Given the description of an element on the screen output the (x, y) to click on. 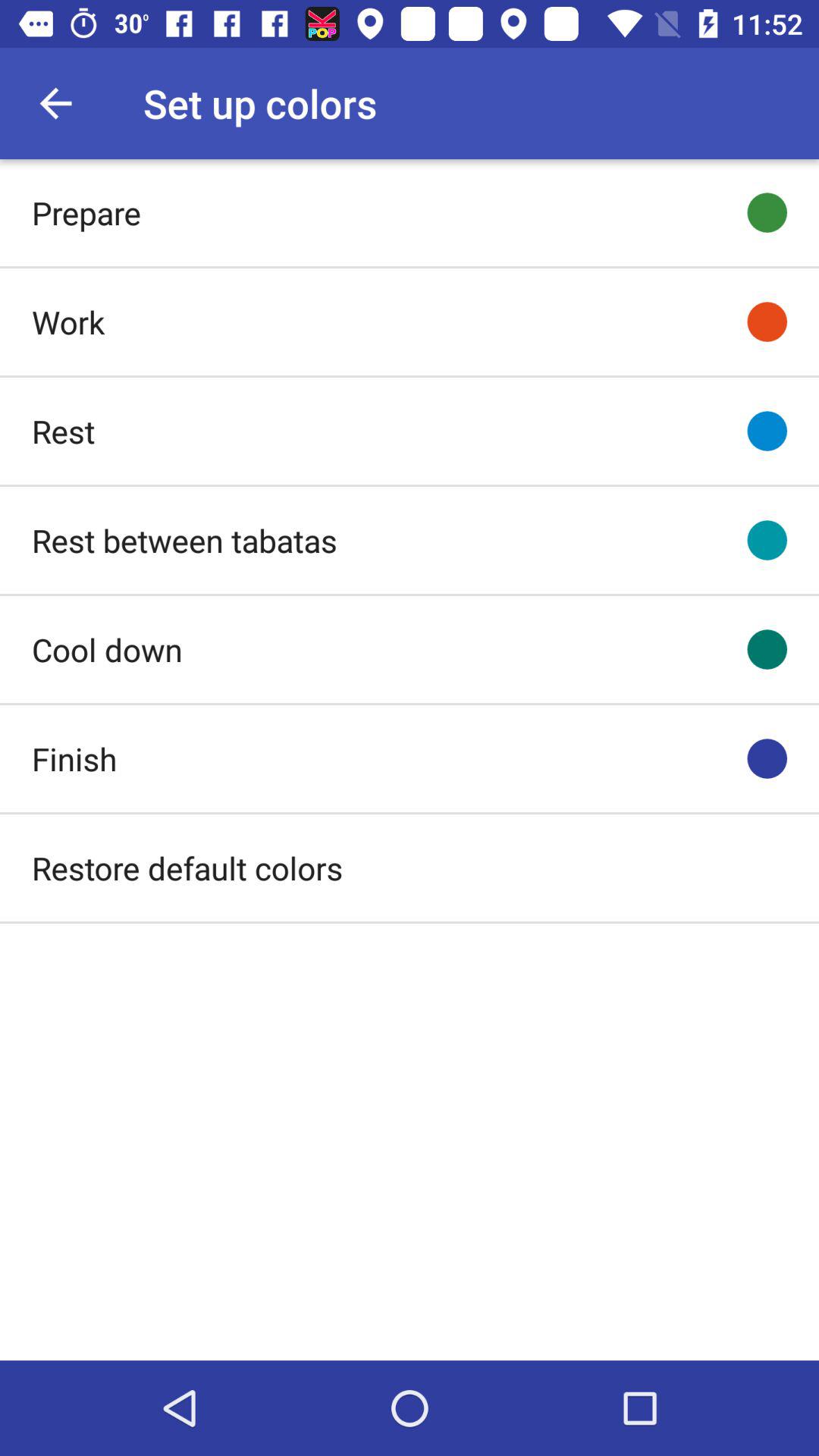
open the finish icon (74, 758)
